Given the description of an element on the screen output the (x, y) to click on. 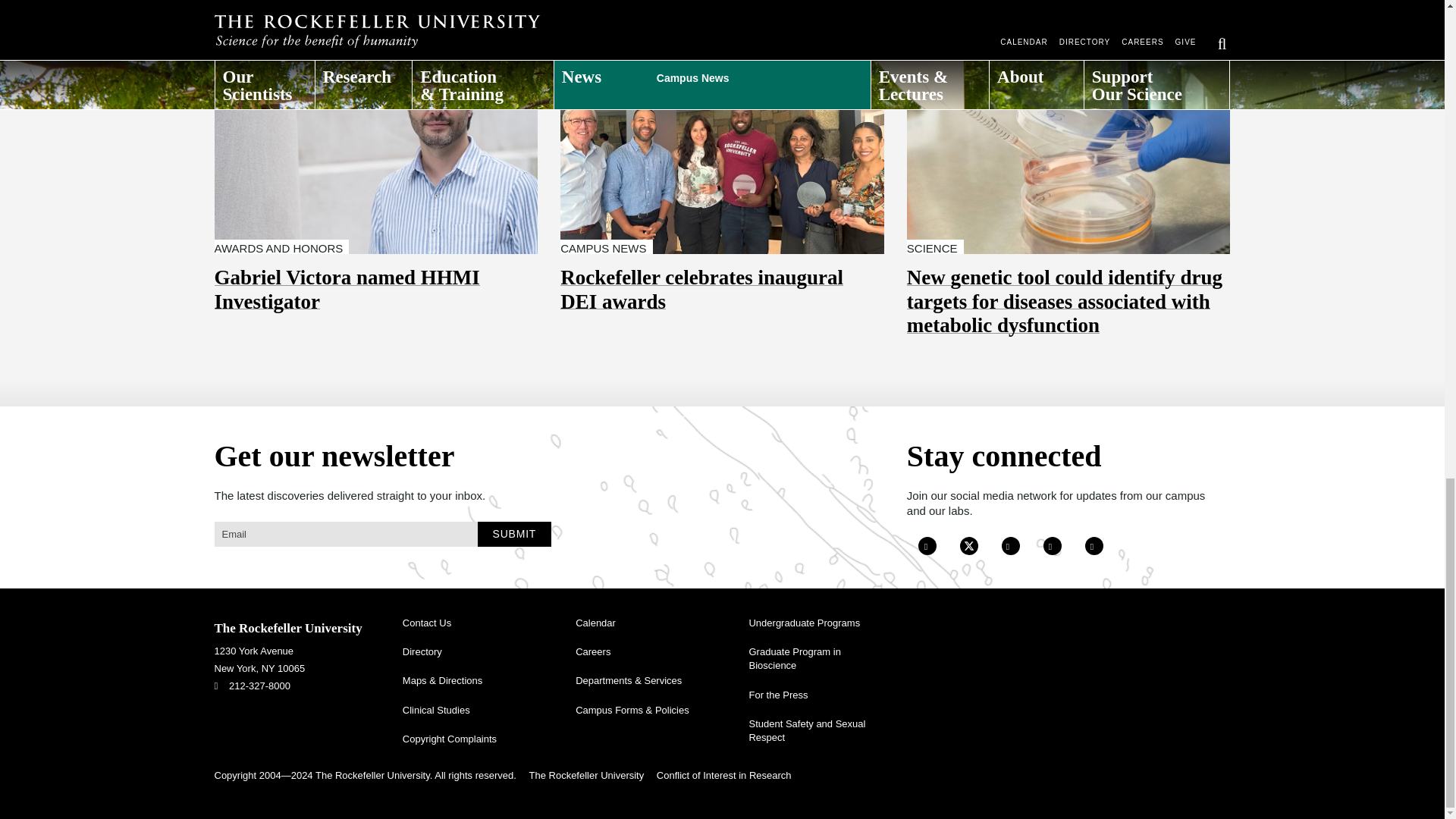
Submit (514, 533)
